Given the description of an element on the screen output the (x, y) to click on. 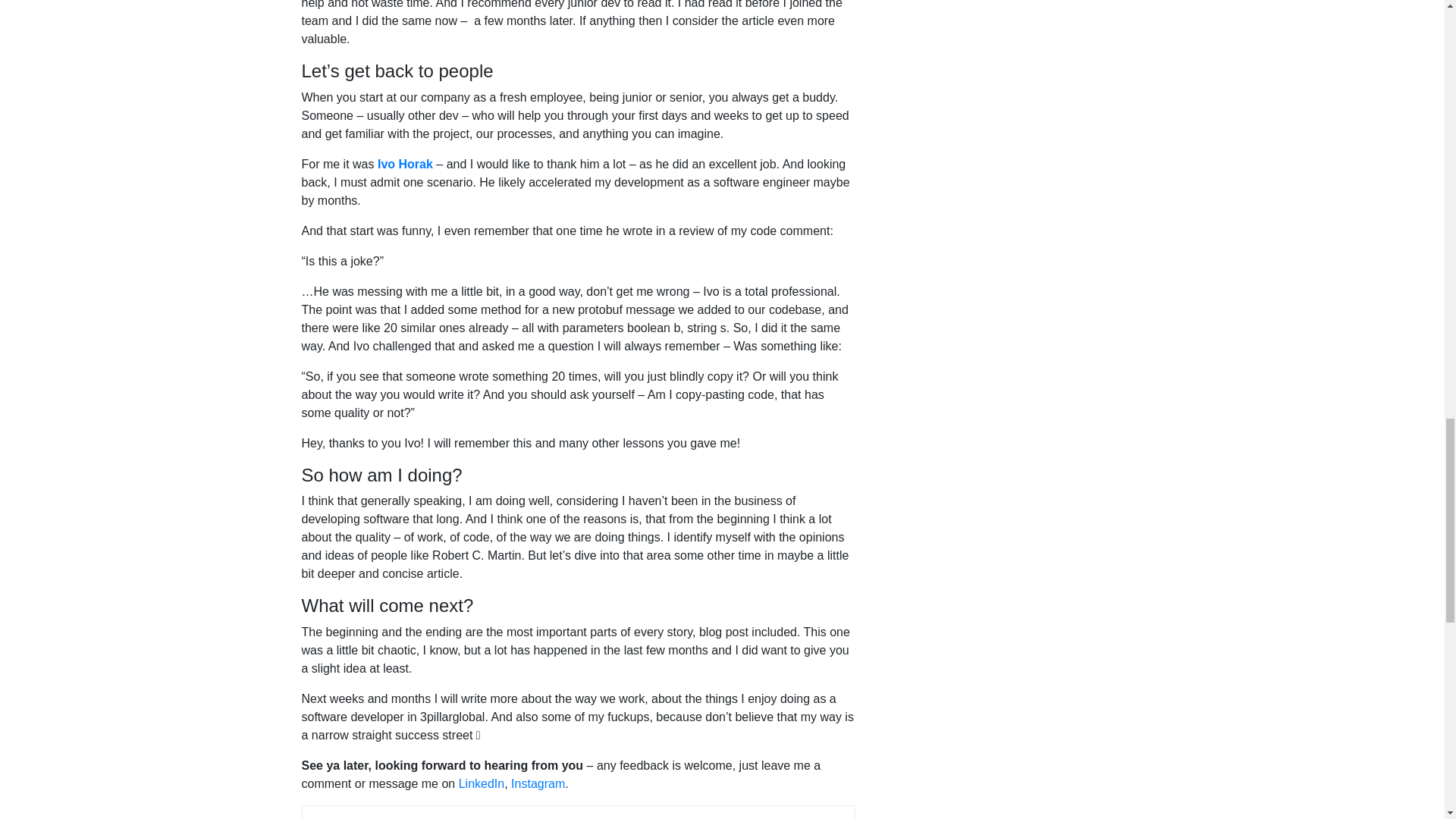
LinkedIn (481, 783)
Instagram (537, 783)
Ivo Horak (404, 164)
